Given the description of an element on the screen output the (x, y) to click on. 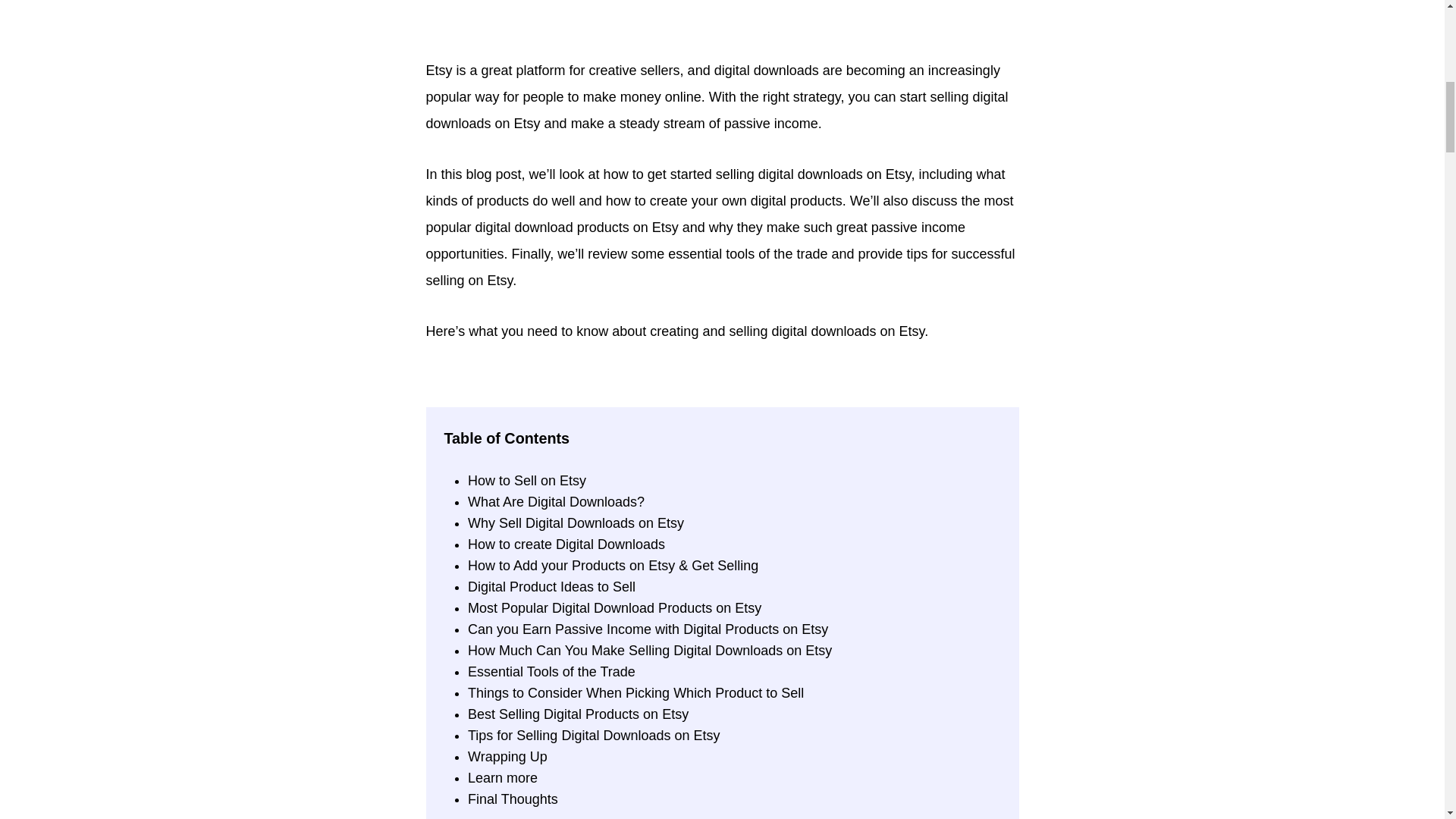
Wrapping Up (507, 756)
How Much Can You Make Selling Digital Downloads on Etsy (649, 650)
Final Thoughts (512, 798)
Most Popular Digital Download Products on Etsy (614, 607)
Things to Consider When Picking Which Product to Sell (635, 693)
Essential Tools of the Trade (550, 671)
Learn more (502, 777)
How to Sell on Etsy (526, 480)
Can you Earn Passive Income with Digital Products on Etsy (647, 629)
Digital Product Ideas to Sell (550, 586)
Why Sell Digital Downloads on Etsy (575, 522)
Best Selling Digital Products on Etsy (577, 713)
What Are Digital Downloads? (556, 501)
How to create Digital Downloads (566, 544)
Tips for Selling Digital Downloads on Etsy (593, 735)
